Given the description of an element on the screen output the (x, y) to click on. 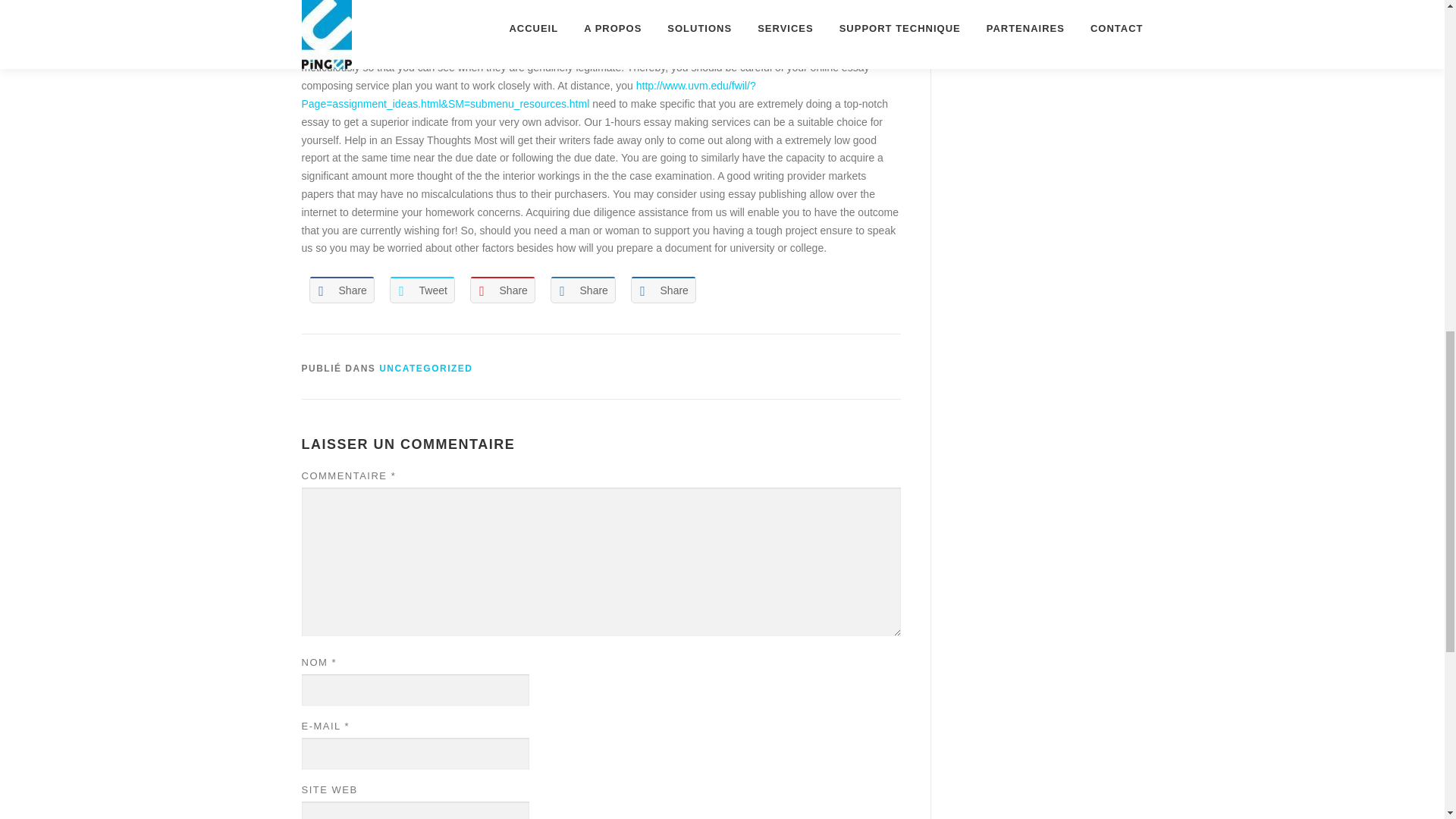
Share (582, 289)
Share on LinkedIn (582, 289)
Share (341, 289)
Share on Digg (662, 289)
Share on Pinterest (502, 289)
Share on Facebook (341, 289)
Share (502, 289)
UNCATEGORIZED (424, 368)
Share on Twitter (422, 289)
Share (662, 289)
